Given the description of an element on the screen output the (x, y) to click on. 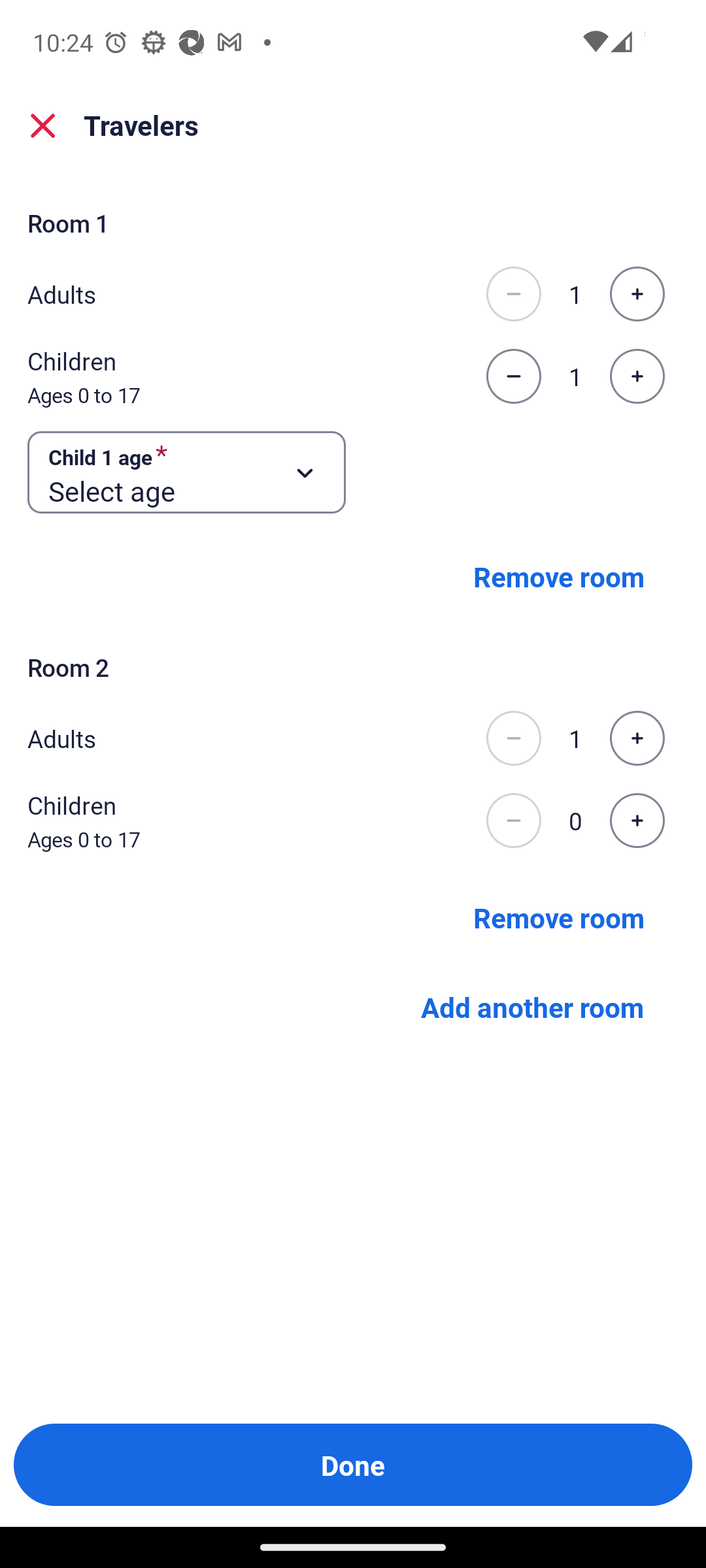
close (43, 125)
Decrease the number of adults (513, 293)
Increase the number of adults (636, 293)
Decrease the number of children (513, 376)
Increase the number of children (636, 376)
Child 1 age required Button Select age (186, 472)
Remove room (557, 576)
Decrease the number of adults (513, 738)
Increase the number of adults (636, 738)
Decrease the number of children (513, 820)
Increase the number of children (636, 820)
Remove room (557, 917)
Add another room (531, 1006)
Done (352, 1464)
